Given the description of an element on the screen output the (x, y) to click on. 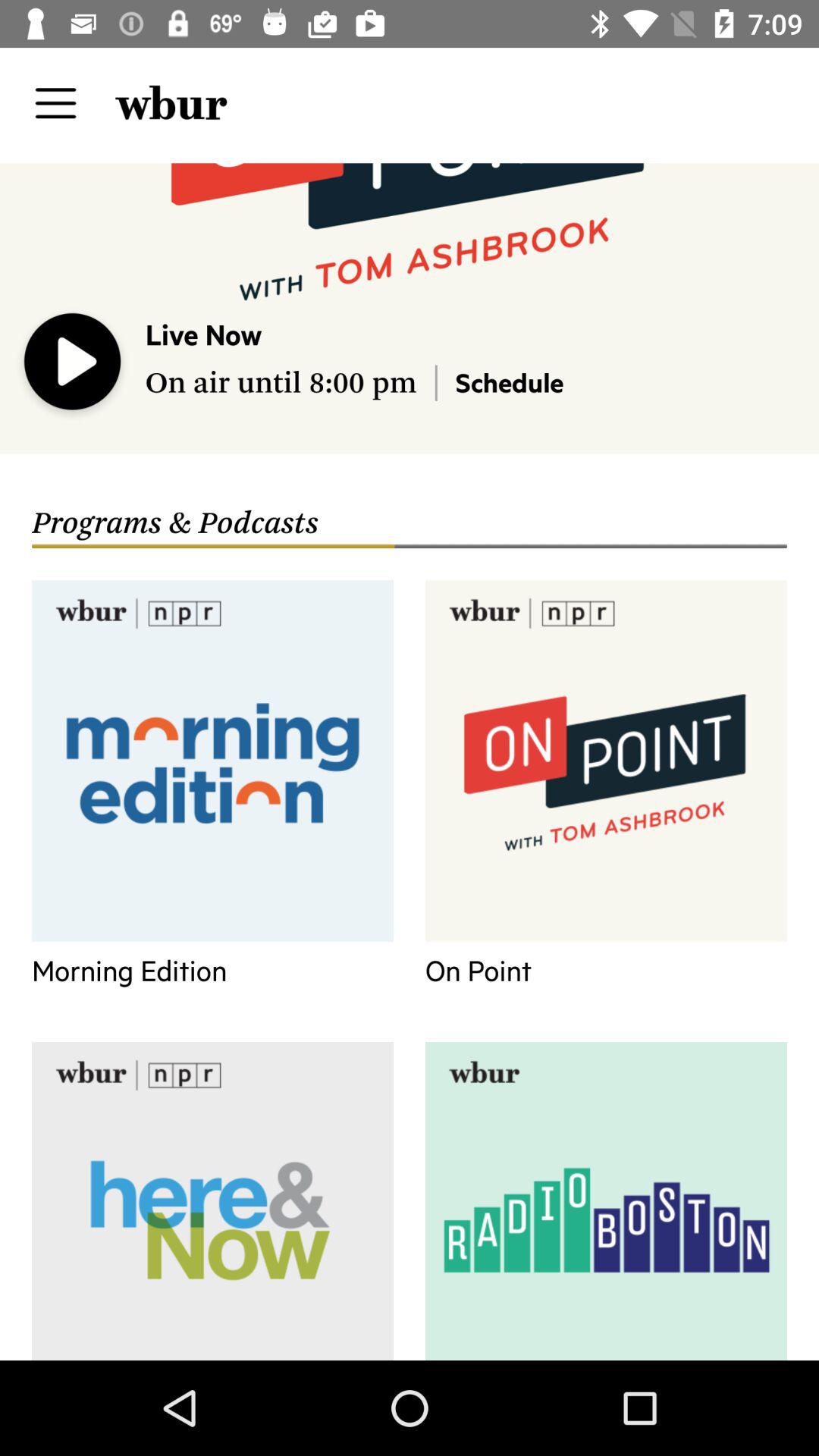
swipe until schedule icon (509, 381)
